Given the description of an element on the screen output the (x, y) to click on. 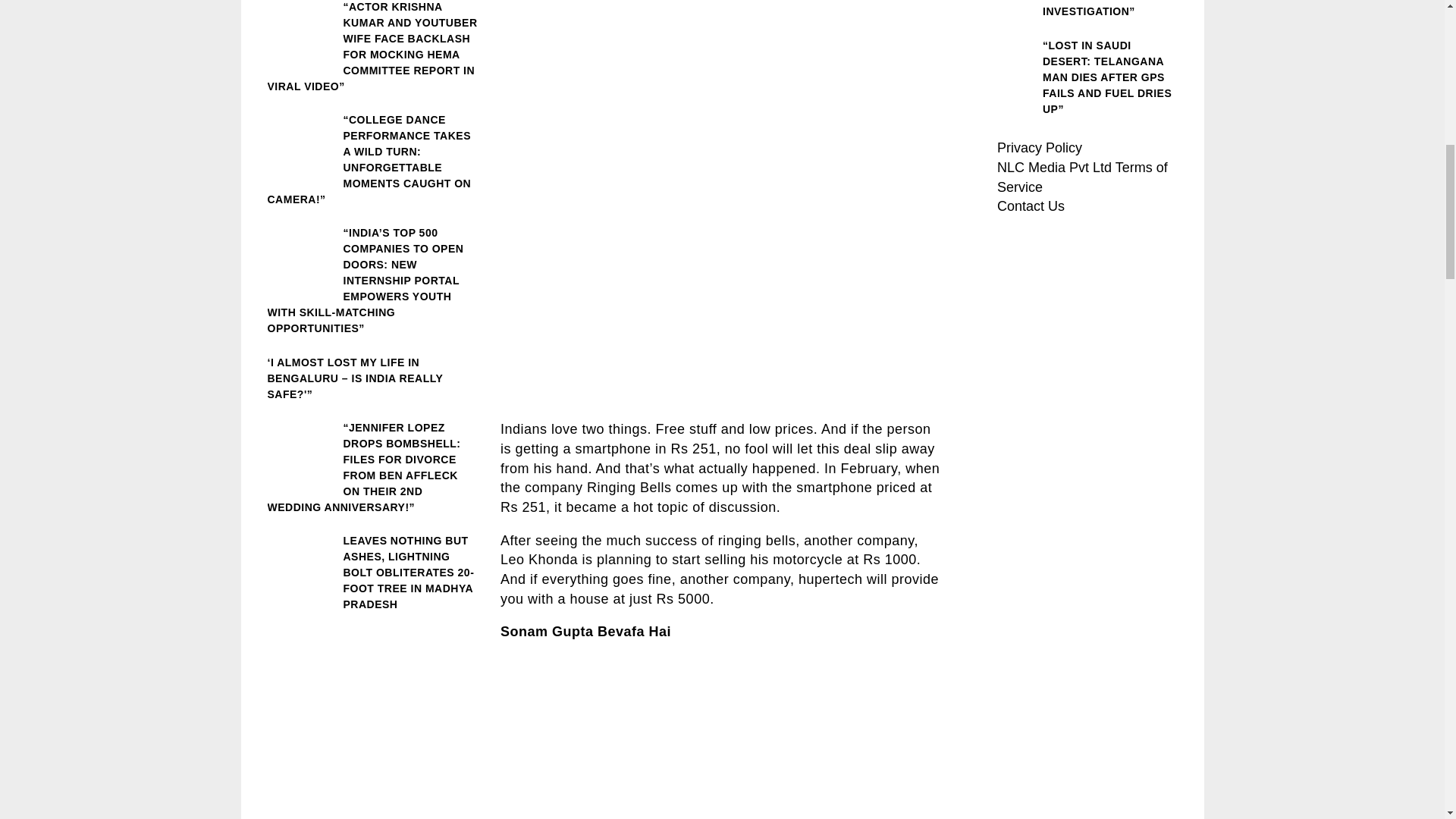
NLC Media Pvt Ltd Terms of Service (1082, 176)
Contact Us (1030, 206)
Privacy Policy (1039, 147)
